Given the description of an element on the screen output the (x, y) to click on. 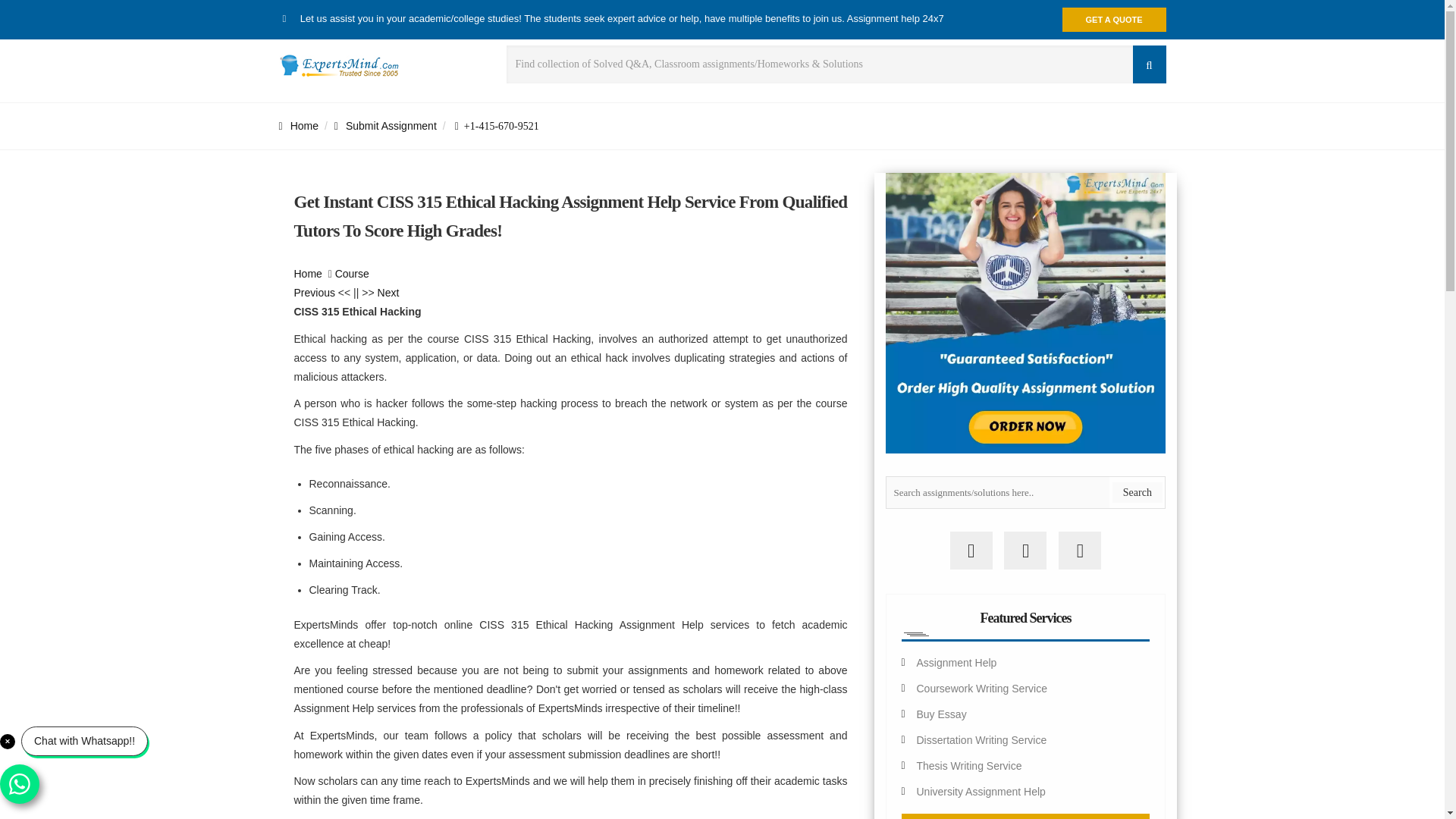
University Assignment Help (980, 791)
Search (1136, 492)
Search (1136, 492)
Next (387, 292)
assignment help (307, 273)
Course (351, 273)
Assignment Help (955, 662)
Order Now (1025, 816)
Thesis Writing Service (968, 766)
Dissertation Writing Service (980, 739)
